Given the description of an element on the screen output the (x, y) to click on. 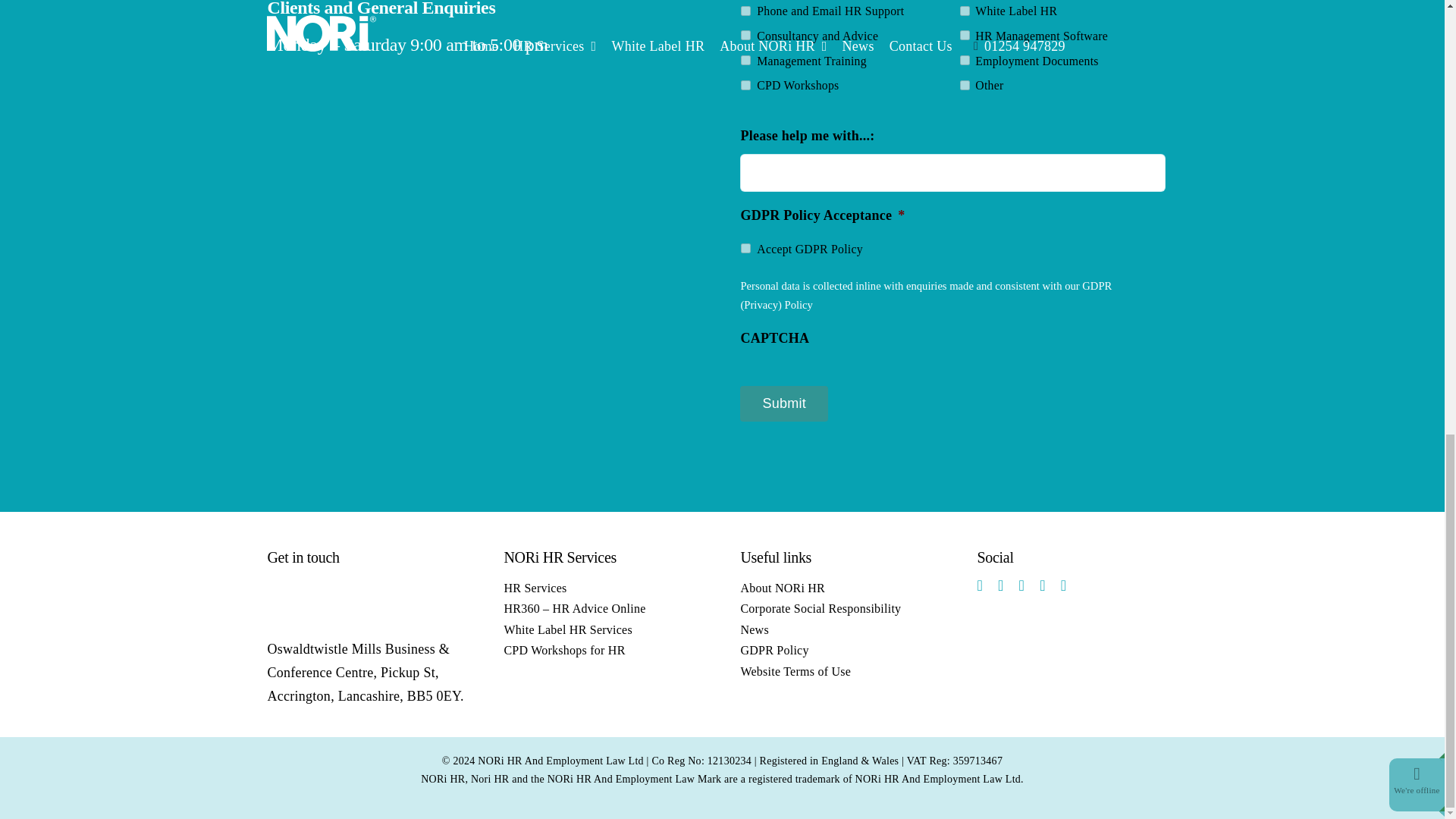
Phone and Email HR Support (746, 10)
Employment Documents (964, 60)
HR Management Software (964, 35)
Management Training (746, 60)
Other (964, 85)
Consultancy and Advice (746, 35)
Accept GDPR Policy (746, 248)
NORi logo (320, 601)
Submit (783, 403)
White Label HR (964, 10)
CPD Workshops (746, 85)
